Given the description of an element on the screen output the (x, y) to click on. 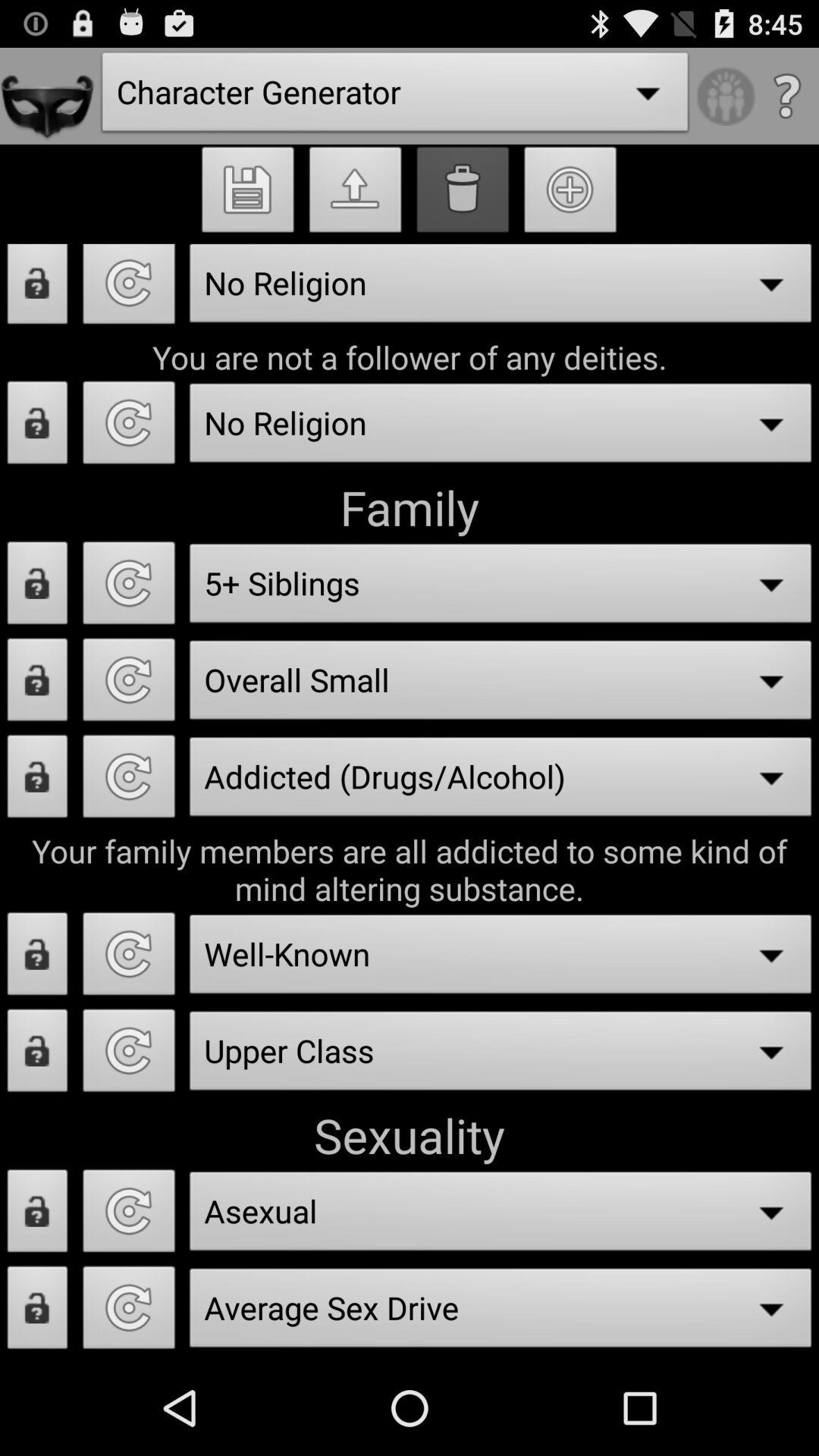
addicted (37, 780)
